Given the description of an element on the screen output the (x, y) to click on. 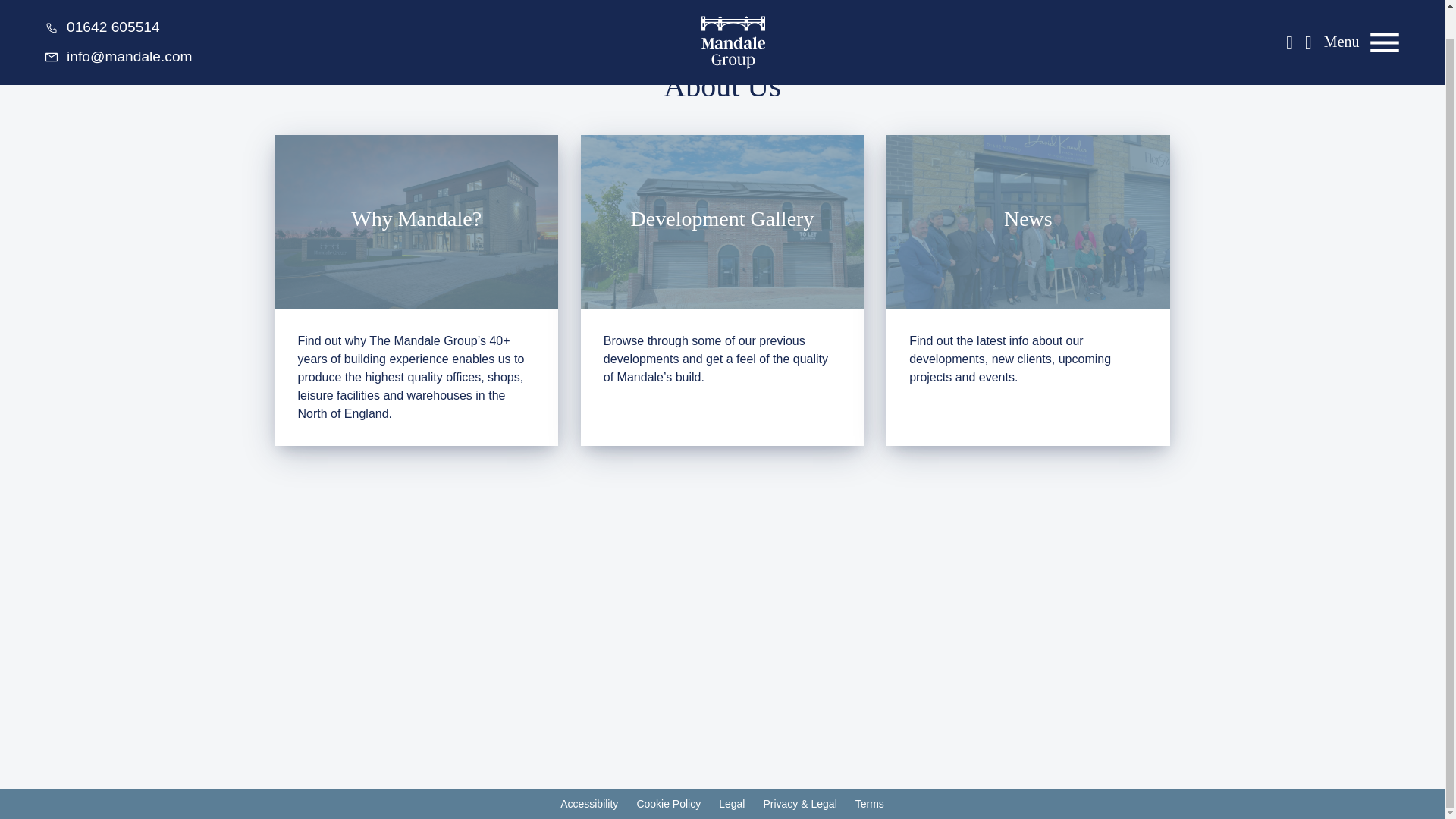
Accessibility (588, 803)
Terms (869, 803)
Cookie Policy (668, 803)
Legal (731, 803)
01642 605514 (102, 6)
